Given the description of an element on the screen output the (x, y) to click on. 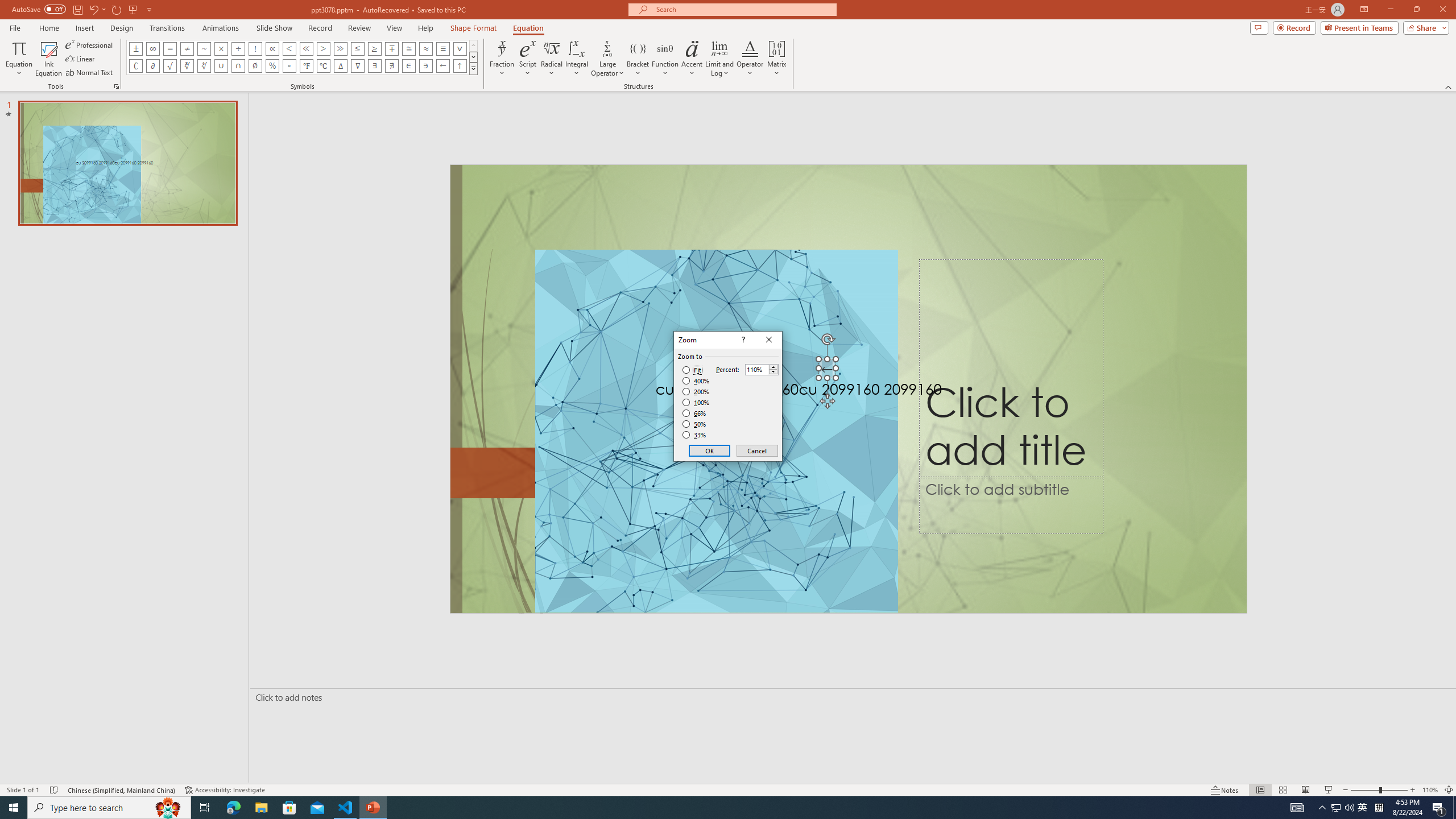
Equation Symbol Increment (340, 65)
Action Center, 1 new notification (1439, 807)
Percent (761, 369)
50% (694, 424)
Equation Symbol Proportional To (272, 48)
Equation Symbol Nabla (357, 65)
66% (694, 412)
